Given the description of an element on the screen output the (x, y) to click on. 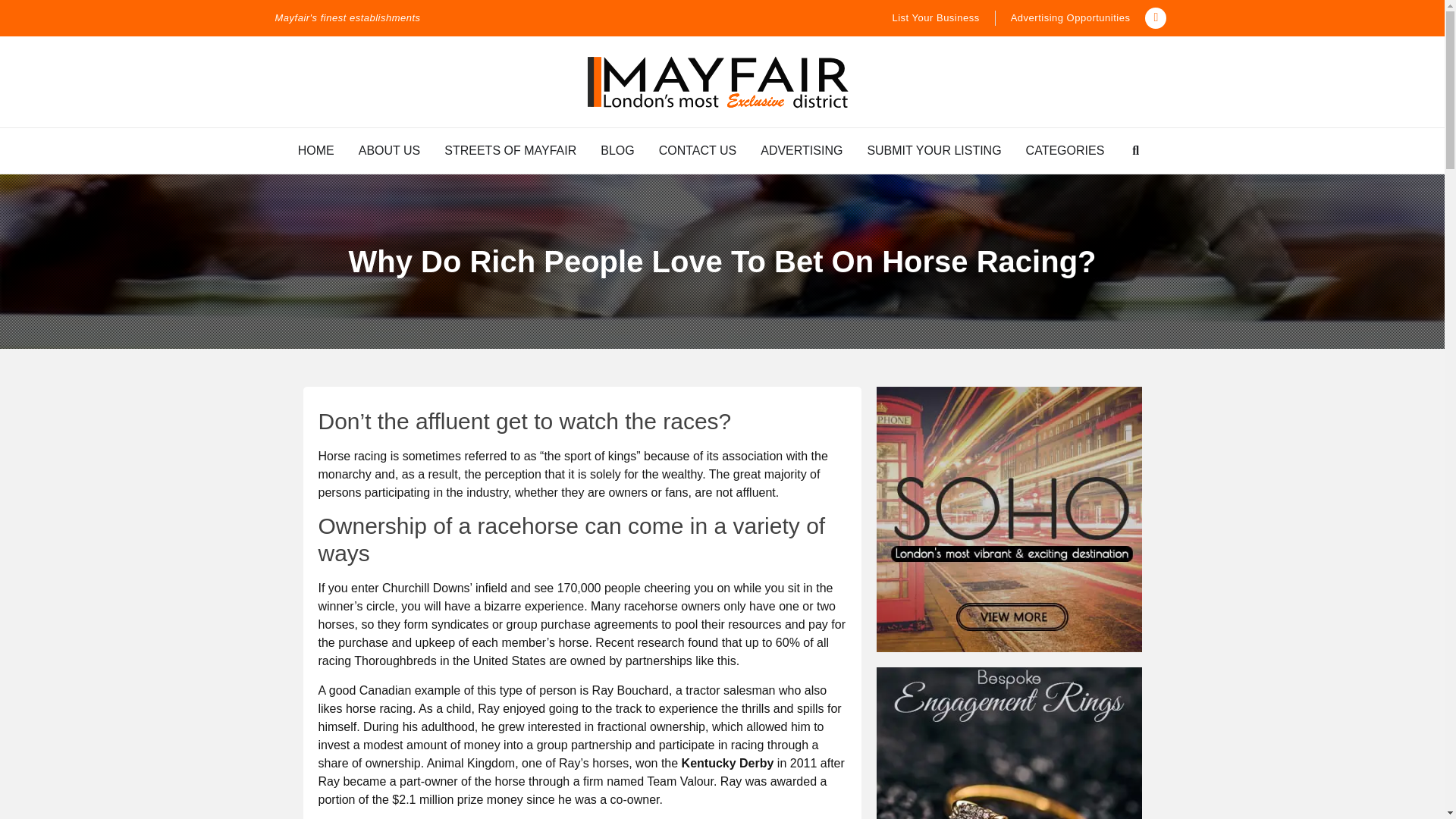
CONTACT US (697, 150)
SUBMIT YOUR LISTING (933, 150)
Mayfair London (718, 82)
ADVERTISING (801, 150)
HOME (316, 150)
STREETS OF MAYFAIR (510, 150)
List Your Business (934, 17)
ABOUT US (389, 150)
Advertising Opportunities (1070, 17)
BLOG (616, 150)
